Given the description of an element on the screen output the (x, y) to click on. 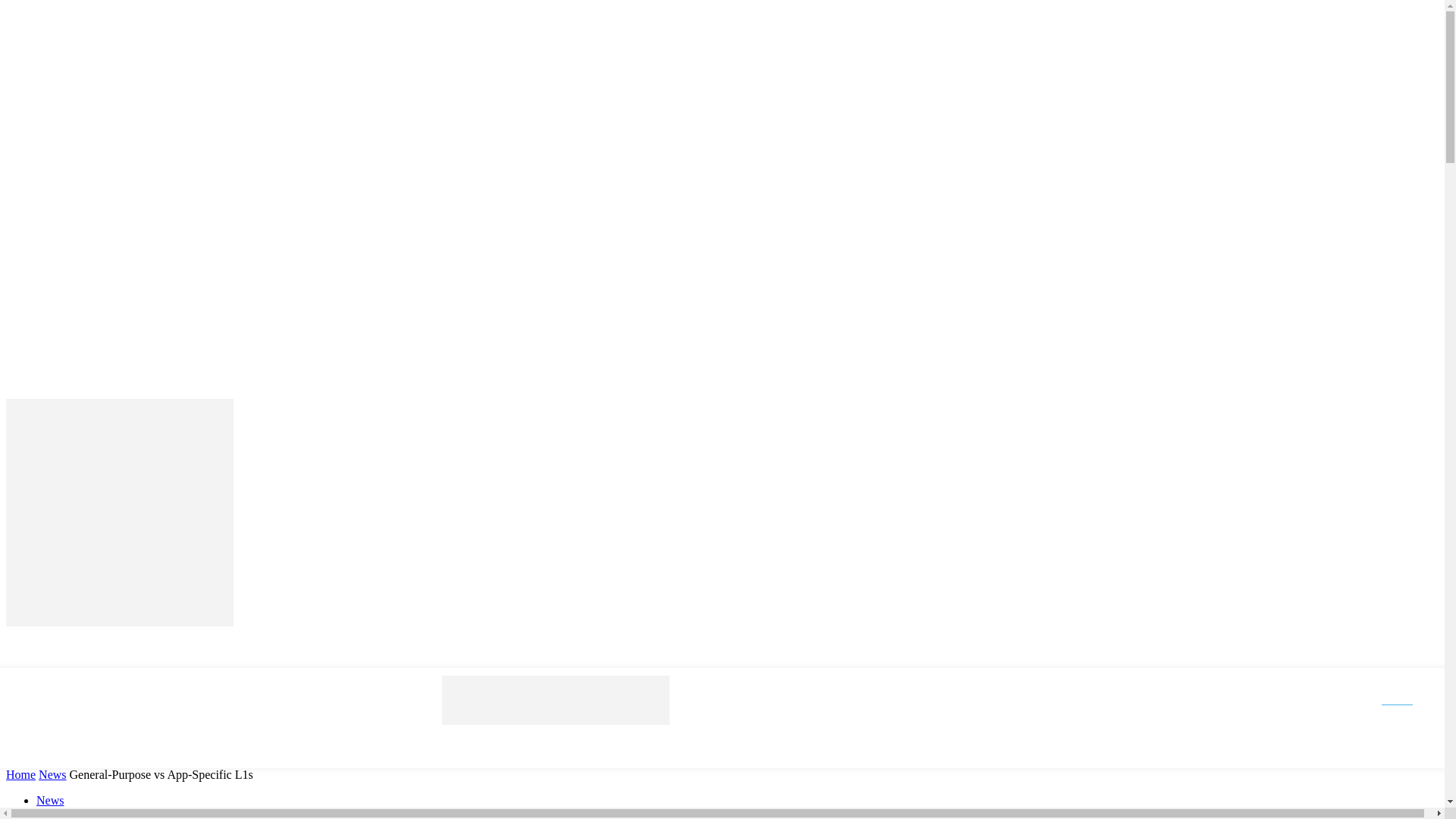
BT Logo (118, 512)
Regulation (266, 748)
blocktelegraph-logo (555, 699)
Press Releases (76, 748)
Submit Your NFT Drop (368, 748)
View all posts in News (52, 774)
Subscribe (592, 748)
News (146, 748)
Search (1409, 699)
Releases (465, 748)
